Given the description of an element on the screen output the (x, y) to click on. 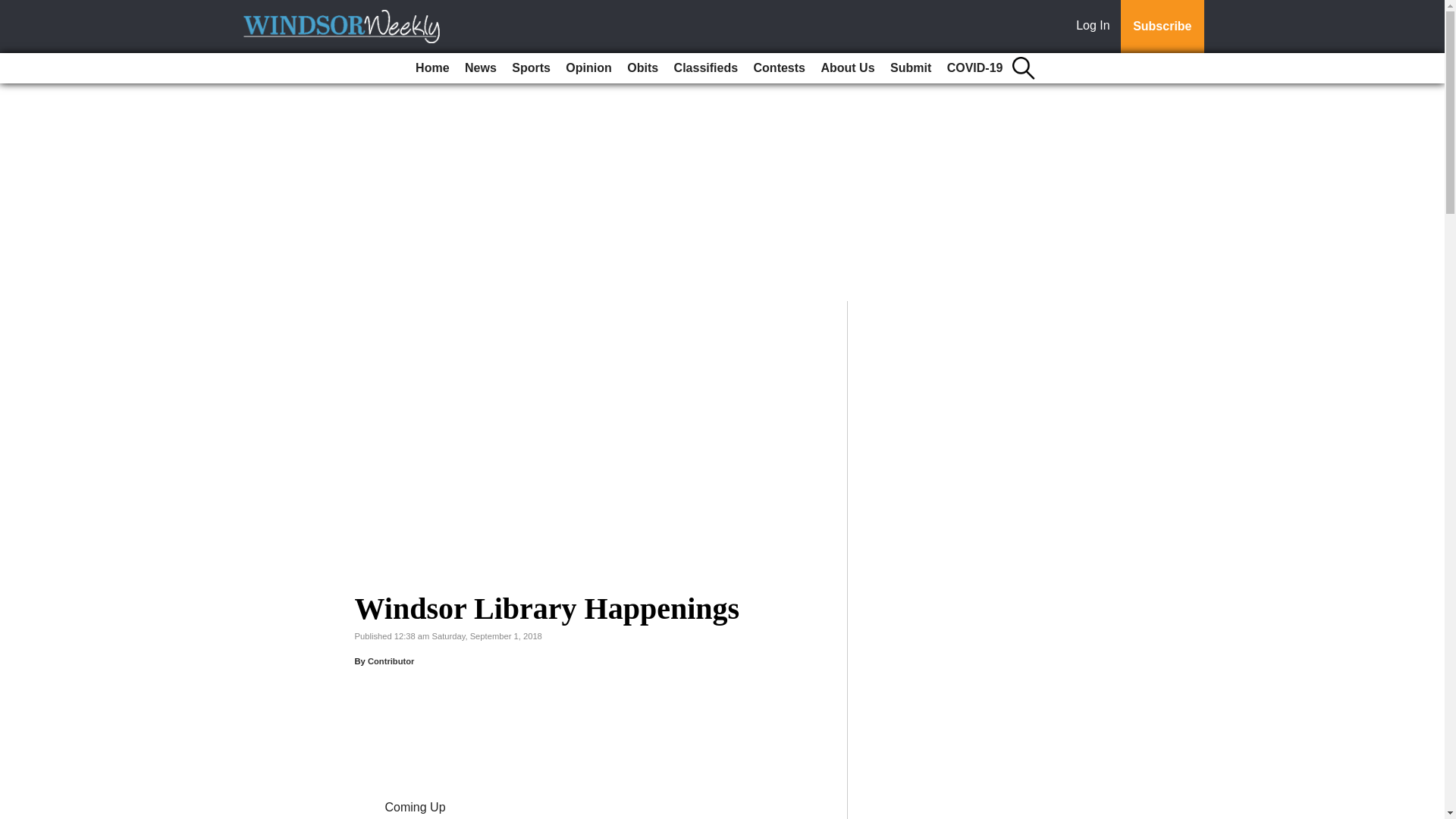
Log In (1095, 26)
Go (13, 9)
Home (431, 68)
Subscribe (1162, 26)
COVID-19 (974, 68)
Sports (530, 68)
Contributor (391, 660)
Opinion (588, 68)
Obits (642, 68)
Classifieds (706, 68)
About Us (846, 68)
Contests (779, 68)
Submit (910, 68)
News (480, 68)
